Given the description of an element on the screen output the (x, y) to click on. 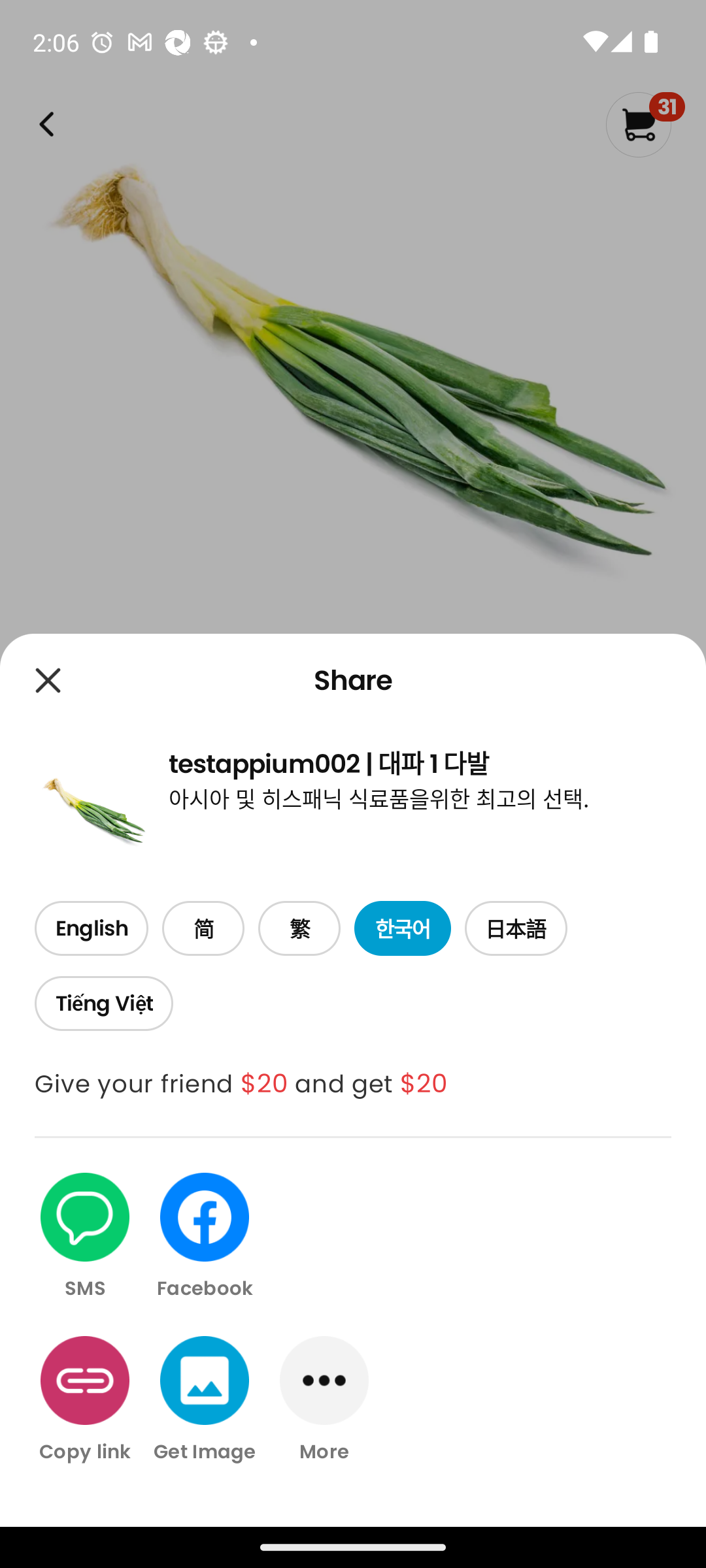
English (91, 928)
简 (203, 928)
繁 (299, 928)
한국어 (402, 928)
日本語 (515, 928)
Tiếng Việt (103, 1003)
SMS (85, 1236)
Facebook (204, 1236)
Copy link (85, 1399)
Get Image (204, 1399)
More (324, 1399)
